Given the description of an element on the screen output the (x, y) to click on. 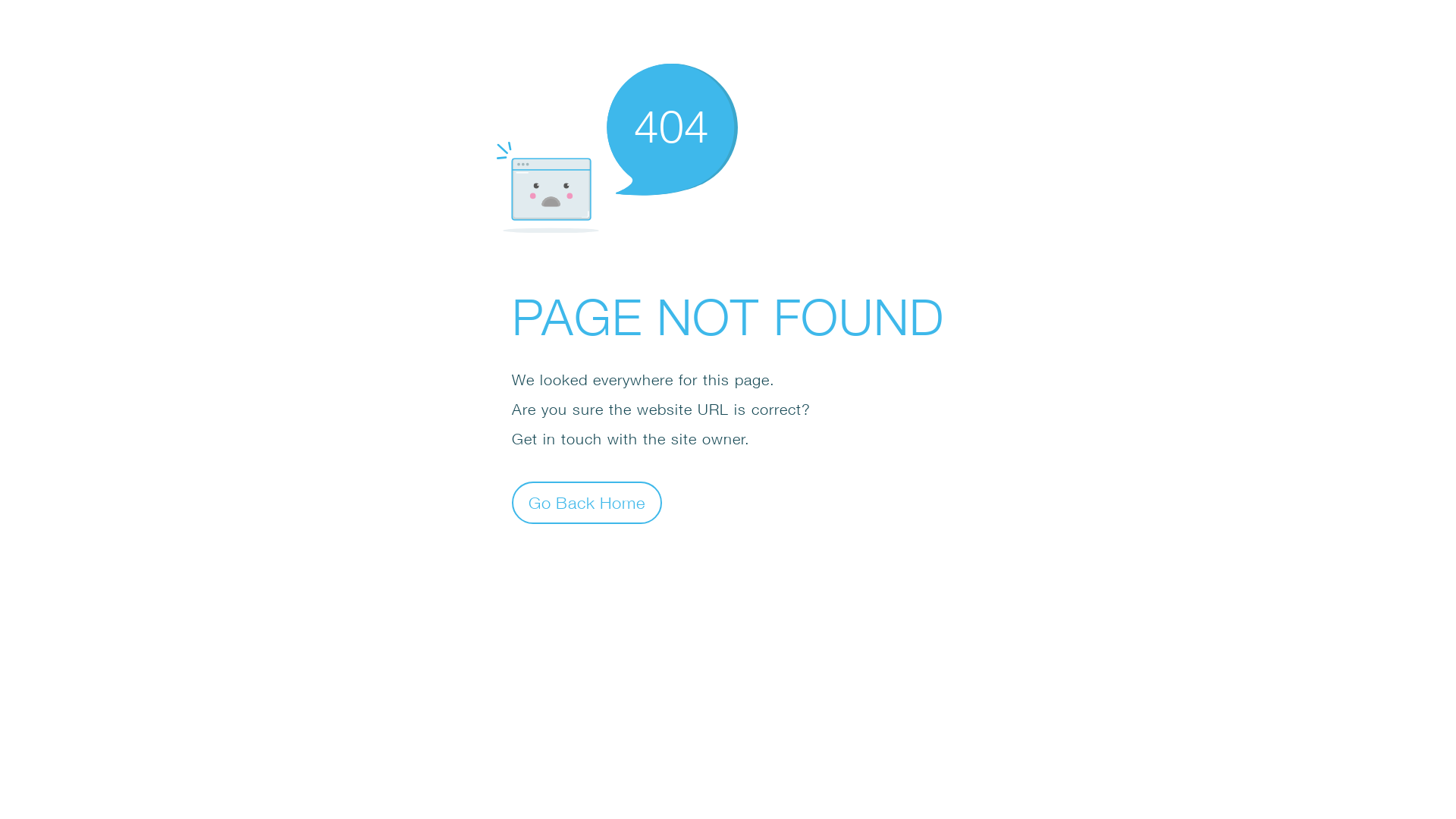
Go Back Home Element type: text (586, 502)
